Given the description of an element on the screen output the (x, y) to click on. 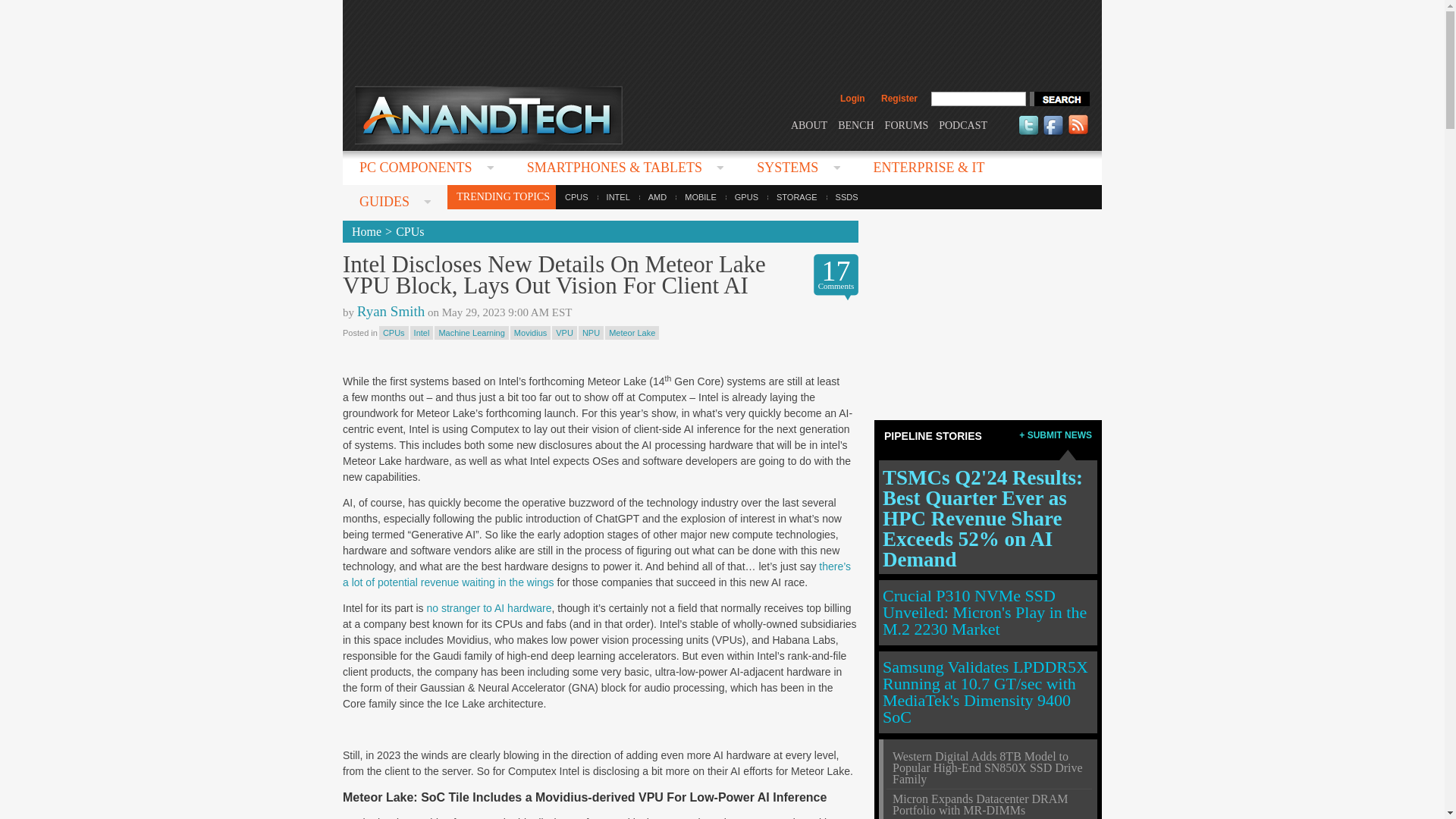
ABOUT (808, 125)
search (1059, 98)
PODCAST (963, 125)
search (1059, 98)
Register (898, 98)
BENCH (855, 125)
search (1059, 98)
Login (852, 98)
FORUMS (906, 125)
